Given the description of an element on the screen output the (x, y) to click on. 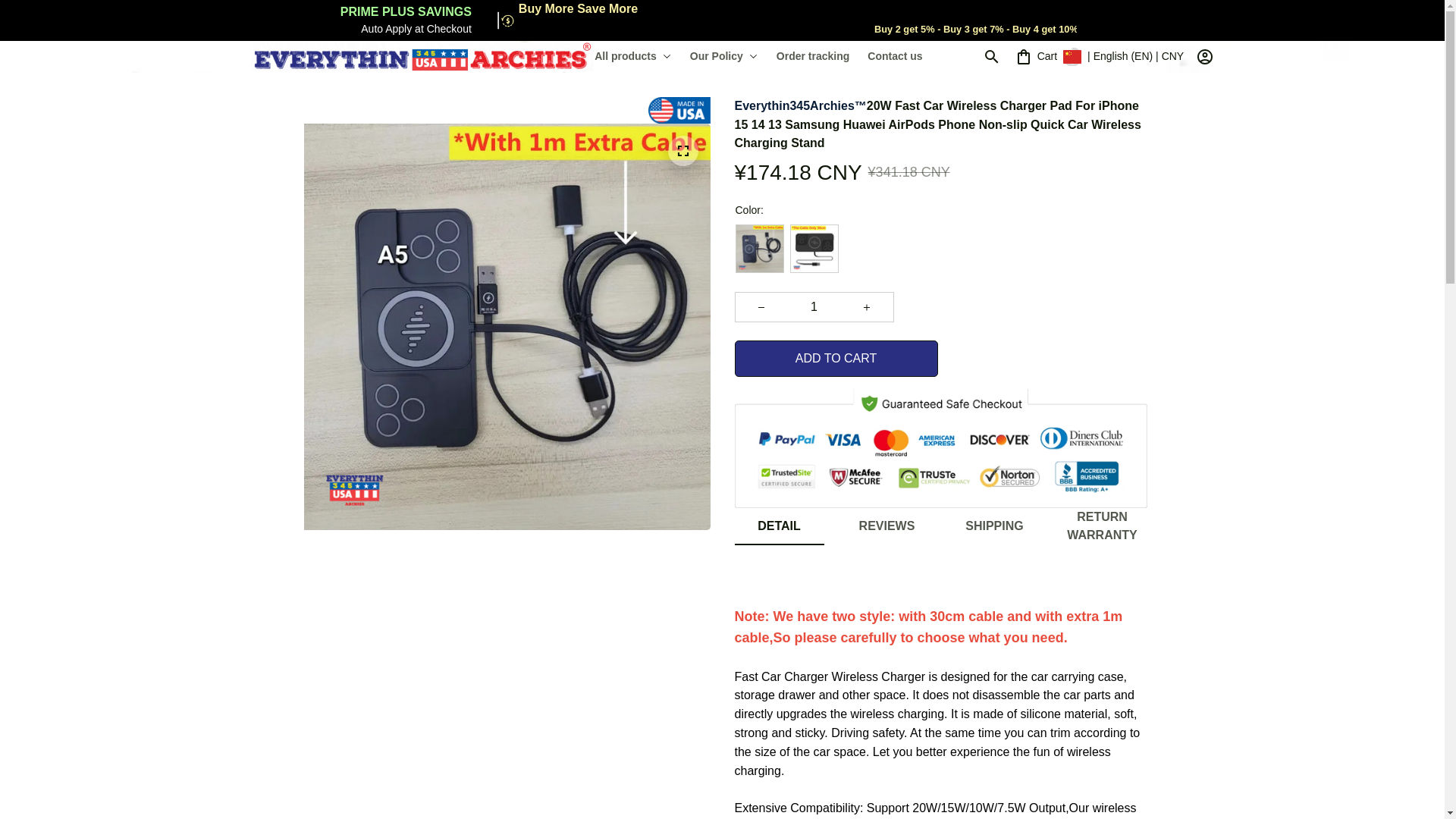
SHIPPING (994, 526)
RETURN WARRANTY (1102, 526)
All products (637, 56)
Order tracking (813, 56)
1 (813, 306)
REVIEWS (886, 526)
Our Policy (724, 56)
Contact us (890, 56)
DETAIL (778, 526)
